Given the description of an element on the screen output the (x, y) to click on. 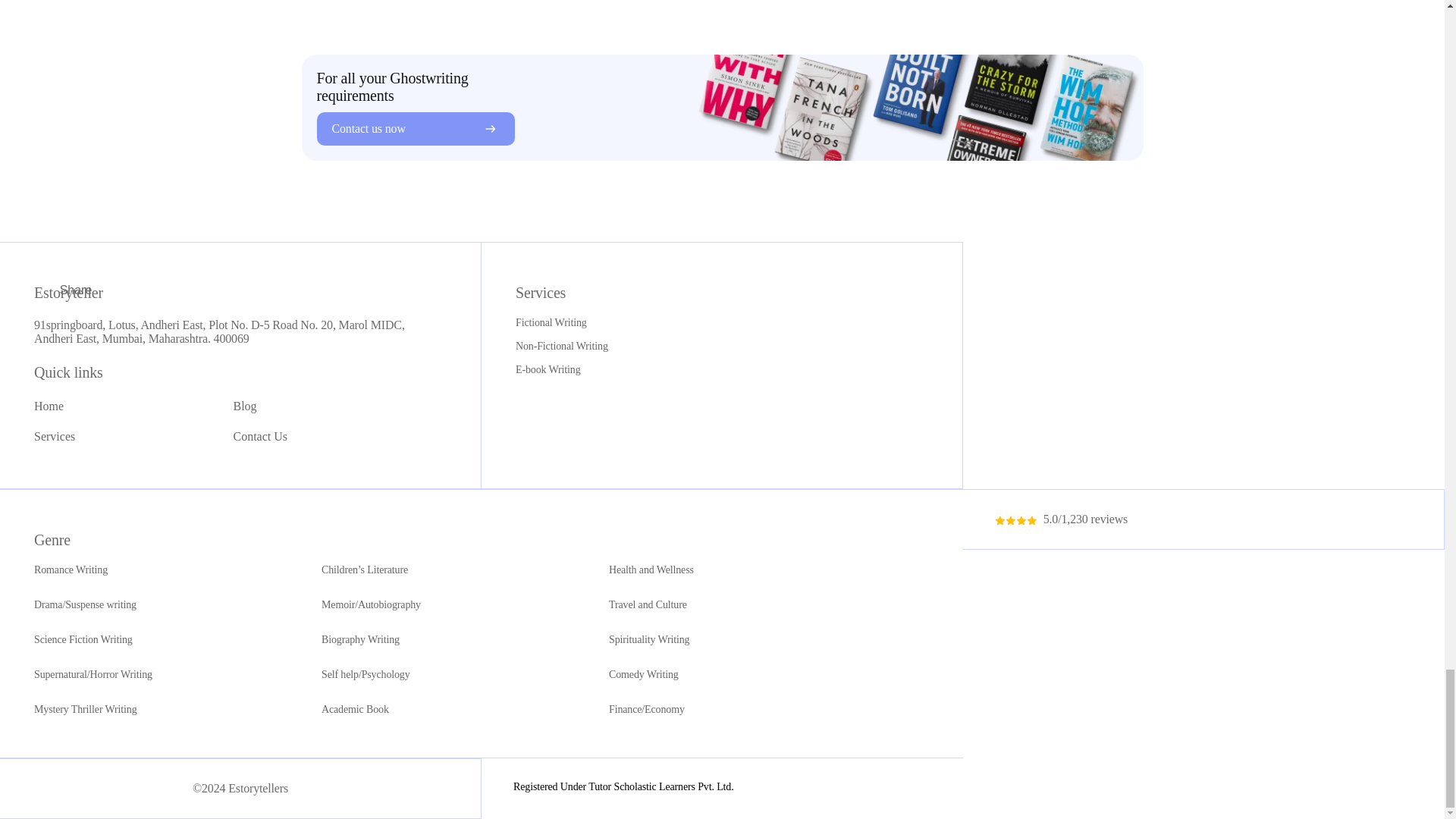
Fictional Writing (705, 322)
Contact Us (260, 436)
Blog (244, 405)
Services (54, 436)
Home (48, 405)
Non-Fictional Writing (705, 346)
Contact us now (416, 128)
